Given the description of an element on the screen output the (x, y) to click on. 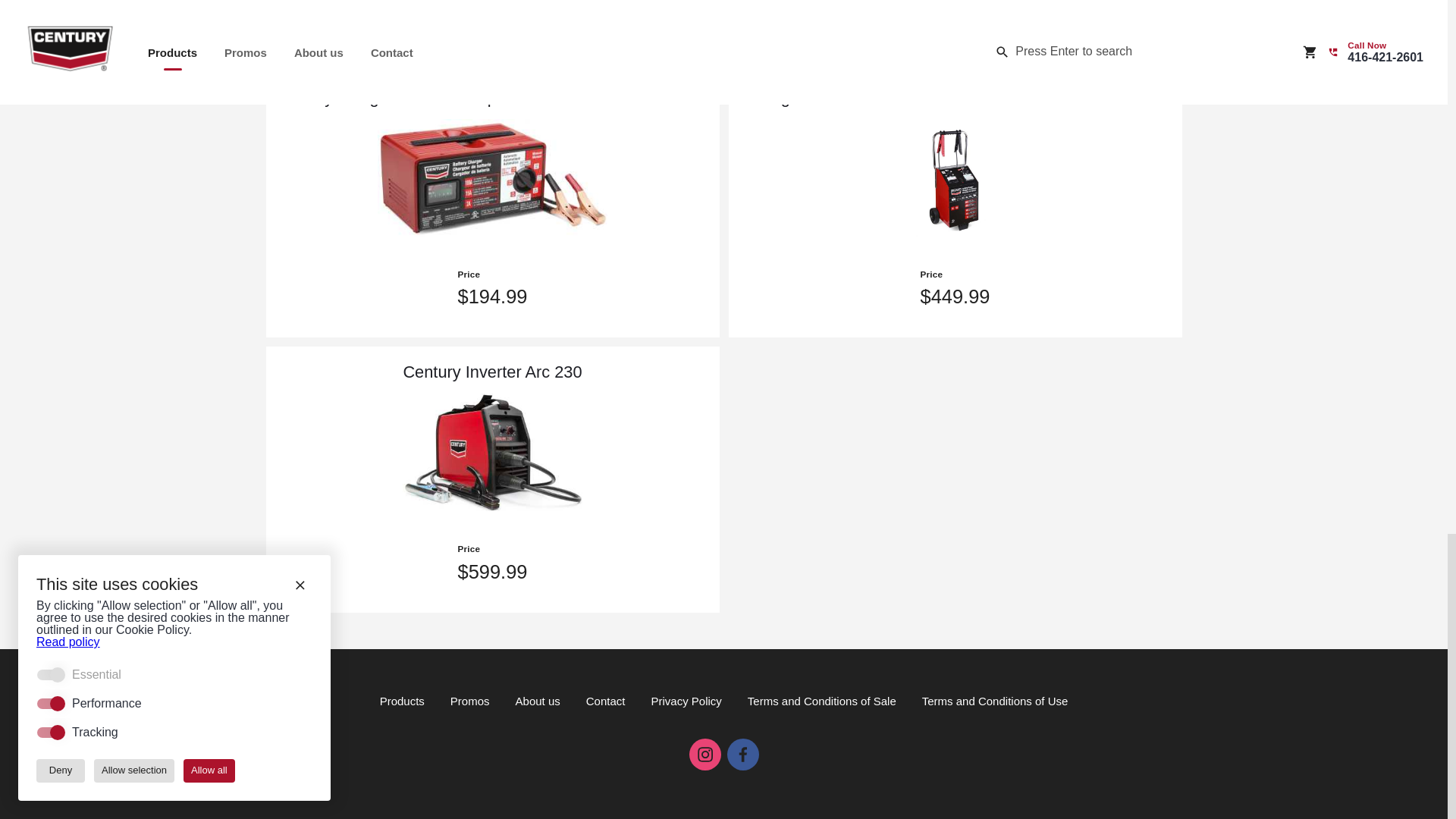
Terms and Conditions of Use (995, 701)
Promos (469, 701)
Contact (605, 701)
Terms and Conditions of Sale (821, 701)
Privacy Policy (685, 701)
Products (401, 701)
About us (537, 701)
